Given the description of an element on the screen output the (x, y) to click on. 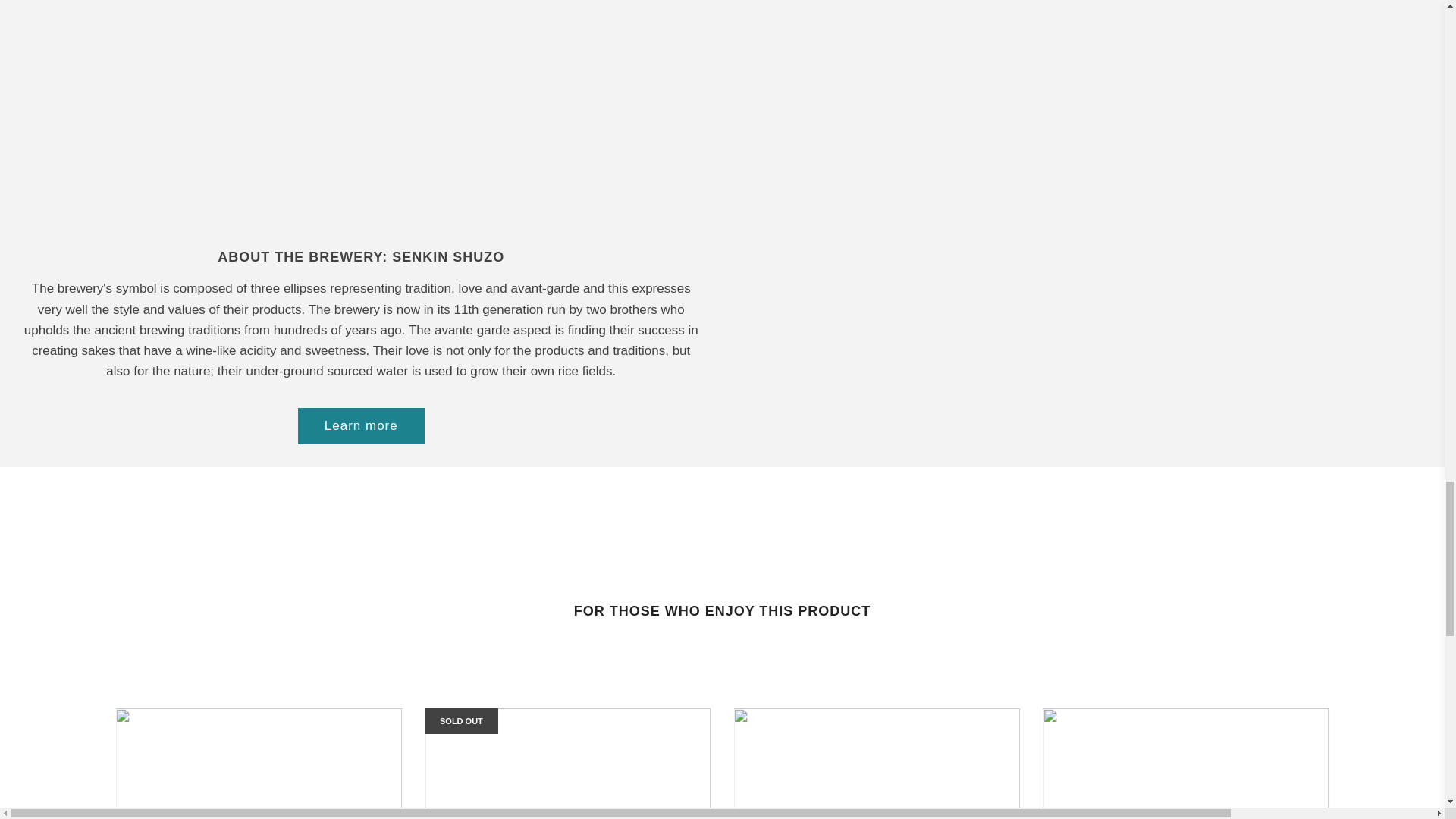
FOR THOSE WHO ENJOY THIS PRODUCT (722, 616)
Yamadanishiki (258, 763)
Karakuchi (568, 763)
Tokubetsu Junmai (876, 763)
Dio Abita (1185, 763)
